Given the description of an element on the screen output the (x, y) to click on. 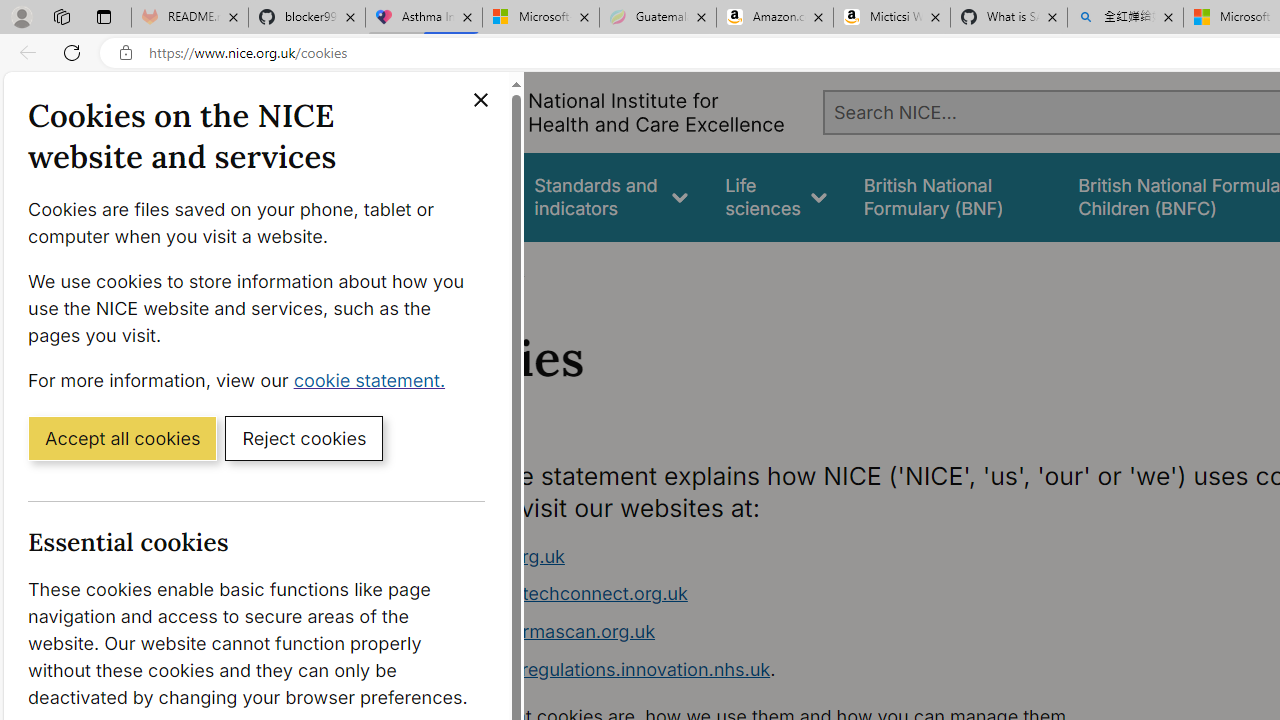
cookie statement. (Opens in a new window) (373, 379)
www.digitalregulations.innovation.nhs.uk. (796, 669)
Asthma Inhalers: Names and Types (424, 17)
www.nice.org.uk (492, 556)
www.healthtechconnect.org.uk (554, 593)
false (952, 196)
Home> (433, 268)
Life sciences (776, 196)
